Given the description of an element on the screen output the (x, y) to click on. 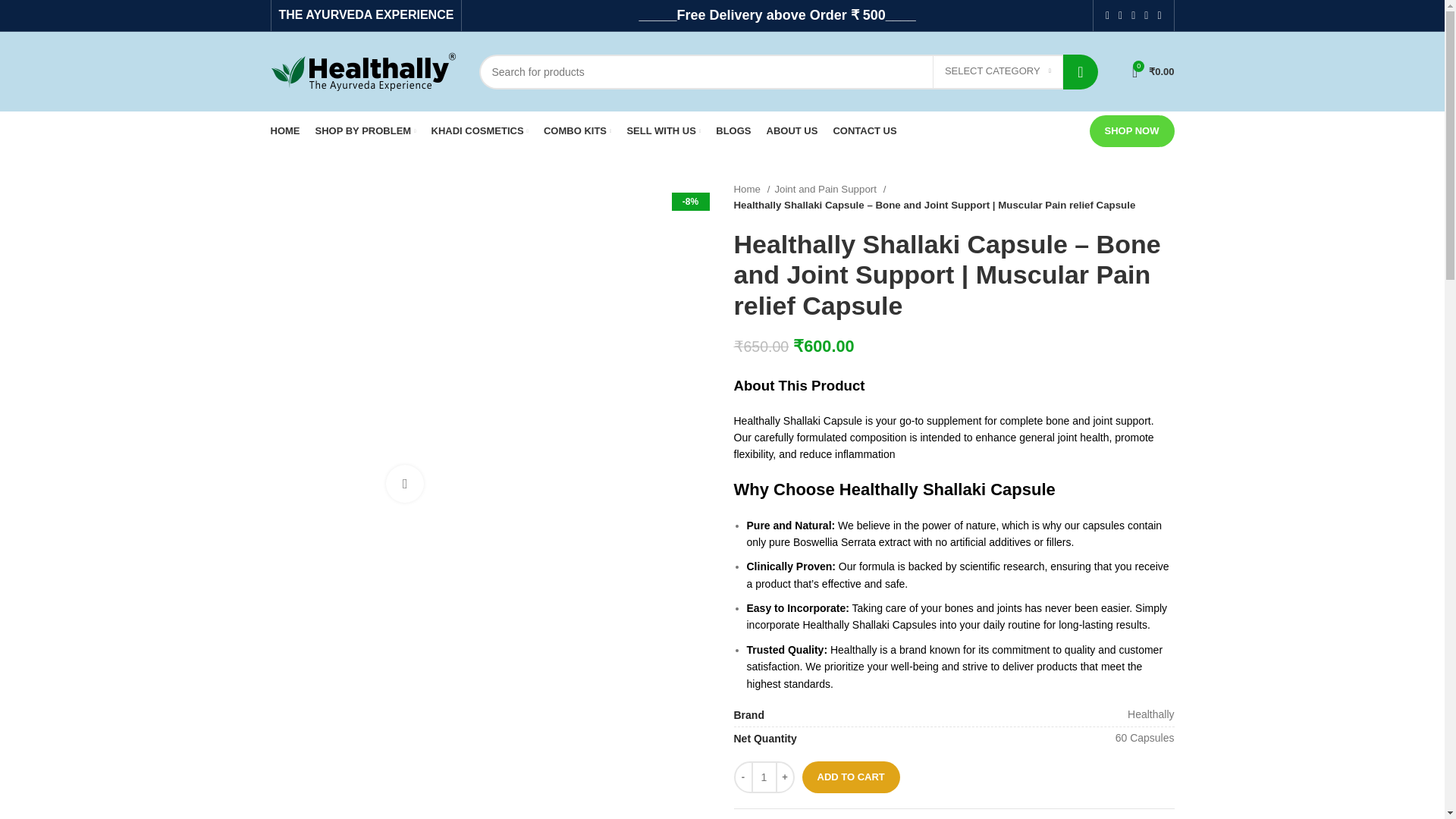
SELECT CATEGORY (997, 71)
SHOP BY PROBLEM (365, 131)
Shopping cart (1153, 71)
HOME (284, 131)
SELECT CATEGORY (997, 71)
SEARCH (1079, 71)
Search for products (788, 71)
